Given the description of an element on the screen output the (x, y) to click on. 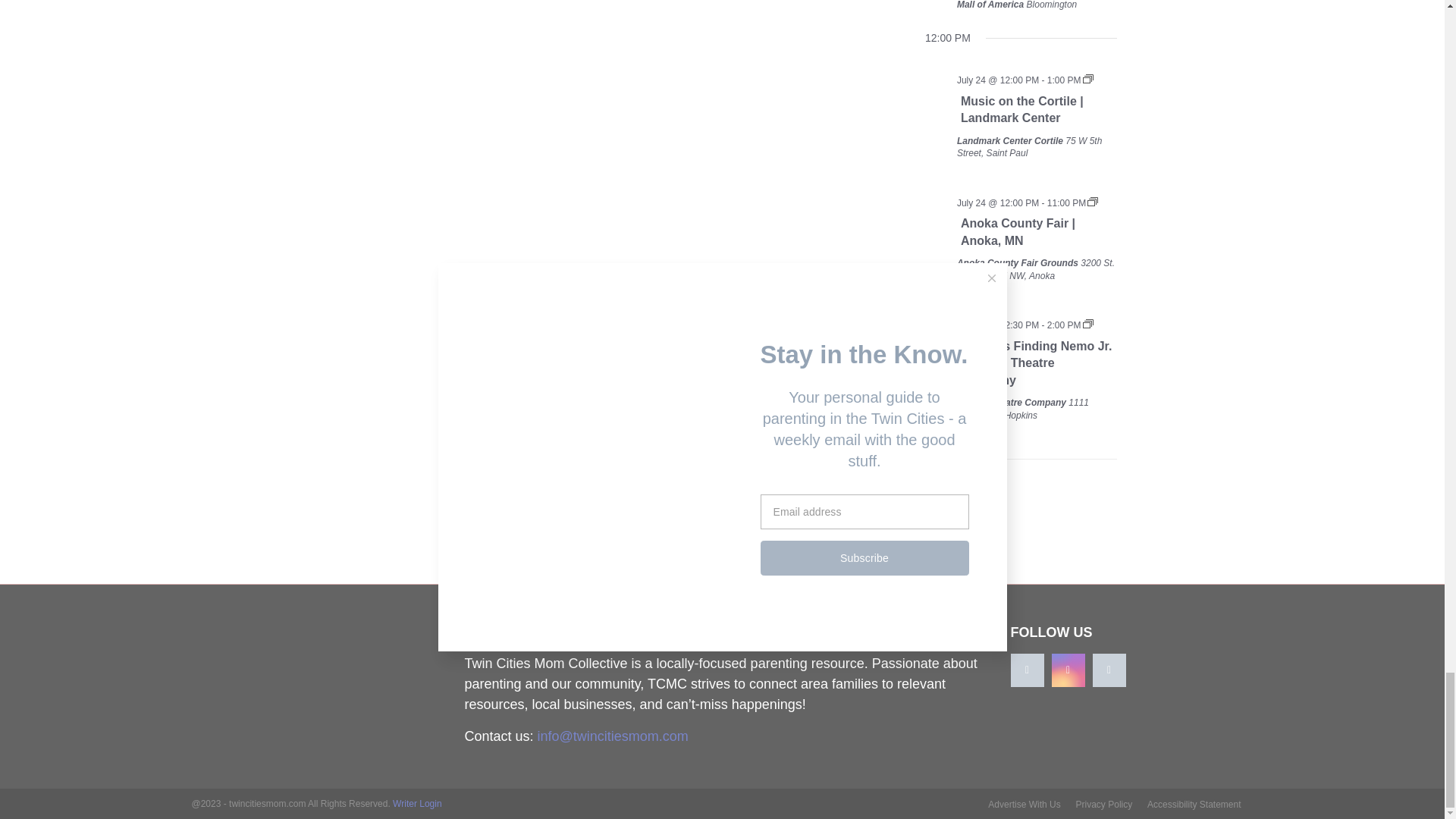
Event Series (1092, 201)
Event Series (1088, 323)
Event Series (1088, 78)
